Given the description of an element on the screen output the (x, y) to click on. 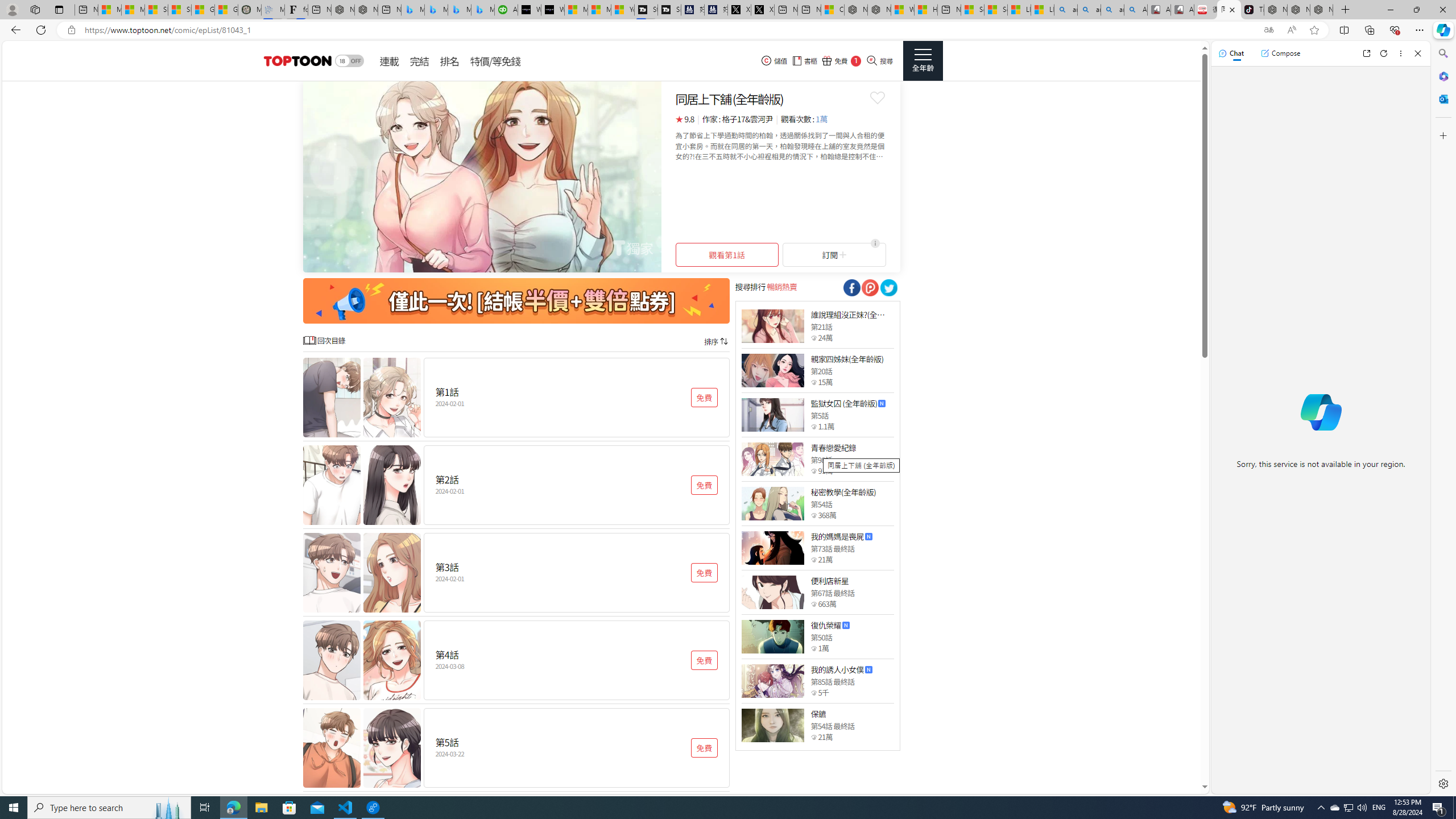
Side bar (1443, 418)
Class: side_menu_btn actionRightMenuBtn (922, 60)
